Given the description of an element on the screen output the (x, y) to click on. 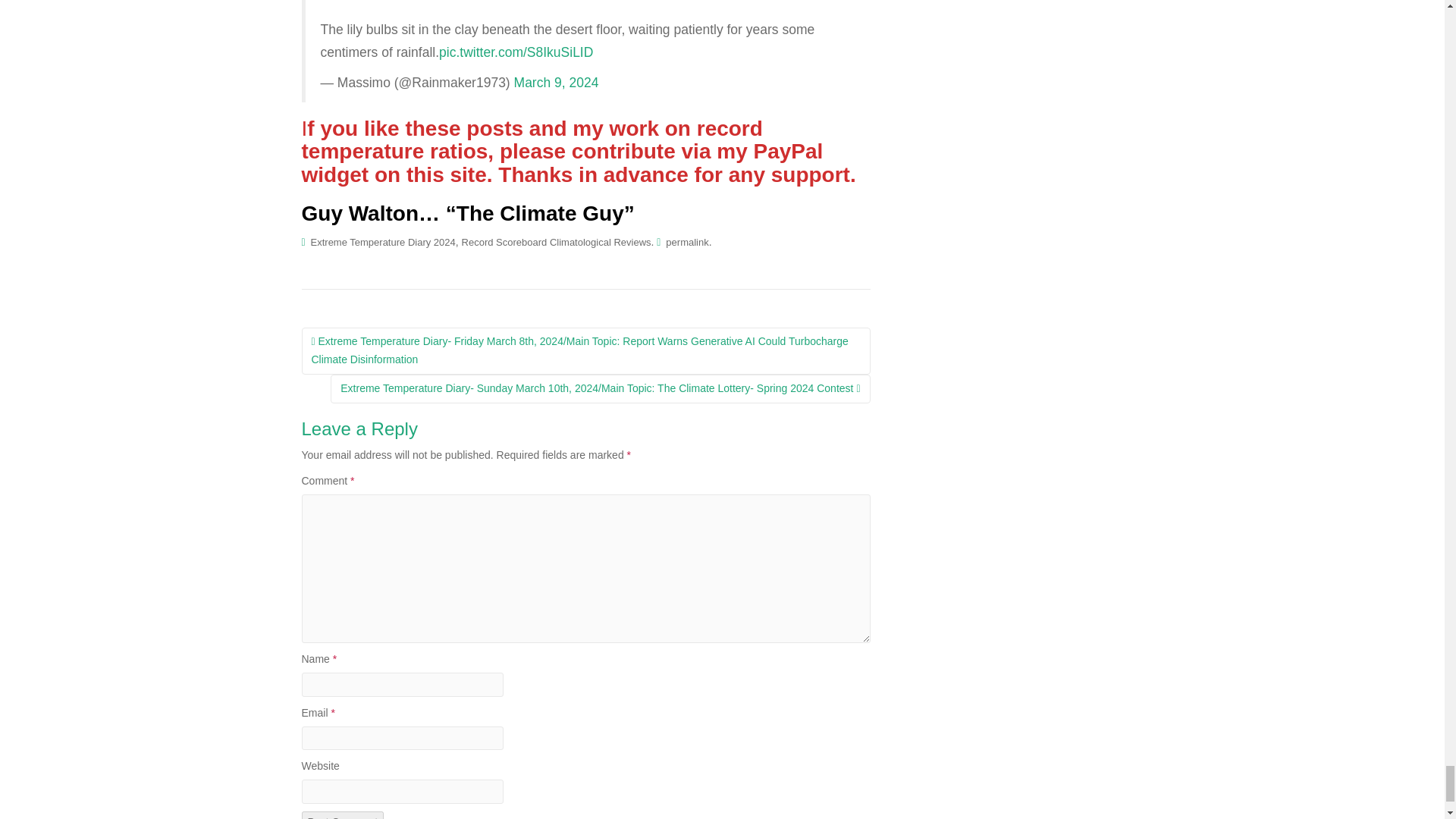
Post Comment (342, 815)
